Given the description of an element on the screen output the (x, y) to click on. 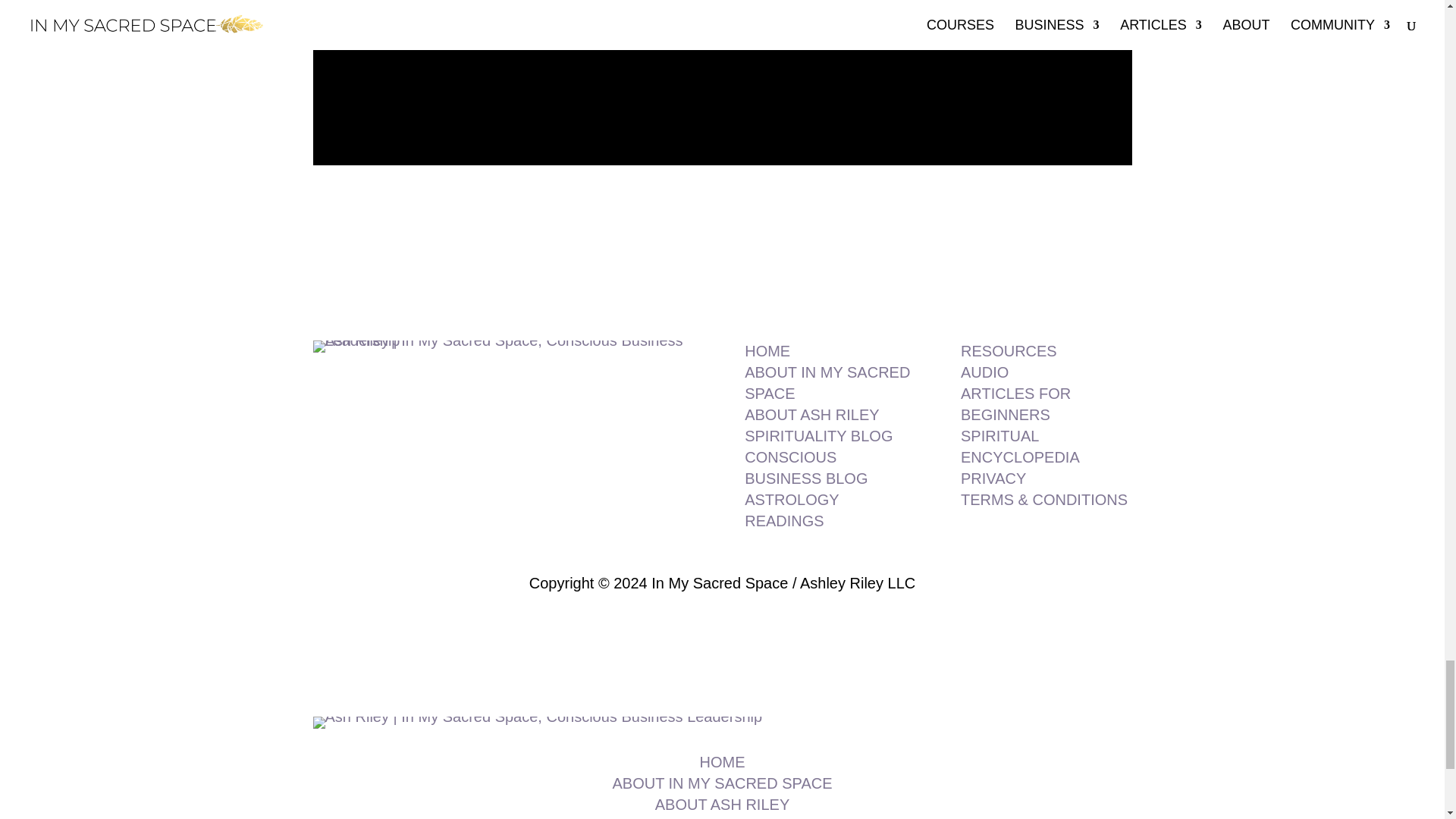
conscious-business-logo (505, 346)
Follow on Instagram (721, 199)
conscious-business-logo (537, 722)
